Given the description of an element on the screen output the (x, y) to click on. 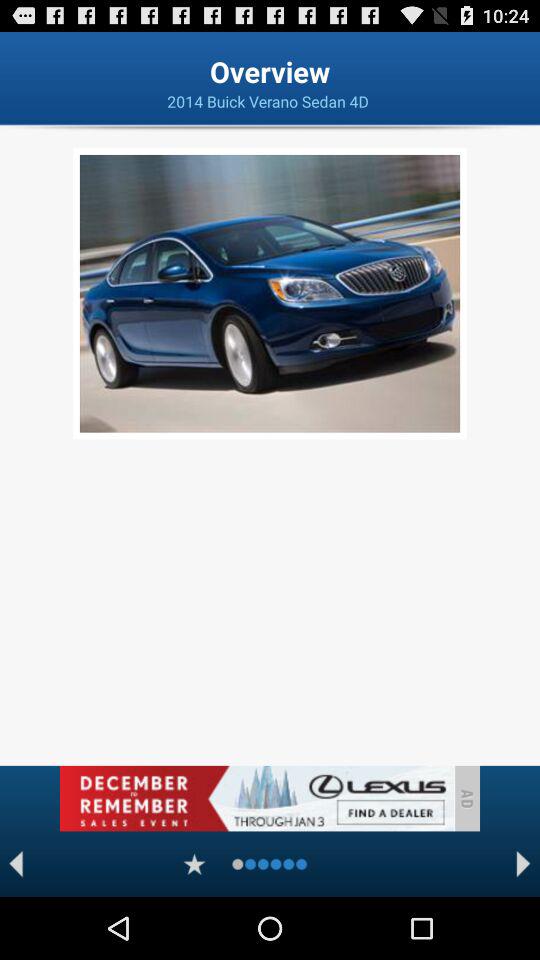
logo title (256, 798)
